Given the description of an element on the screen output the (x, y) to click on. 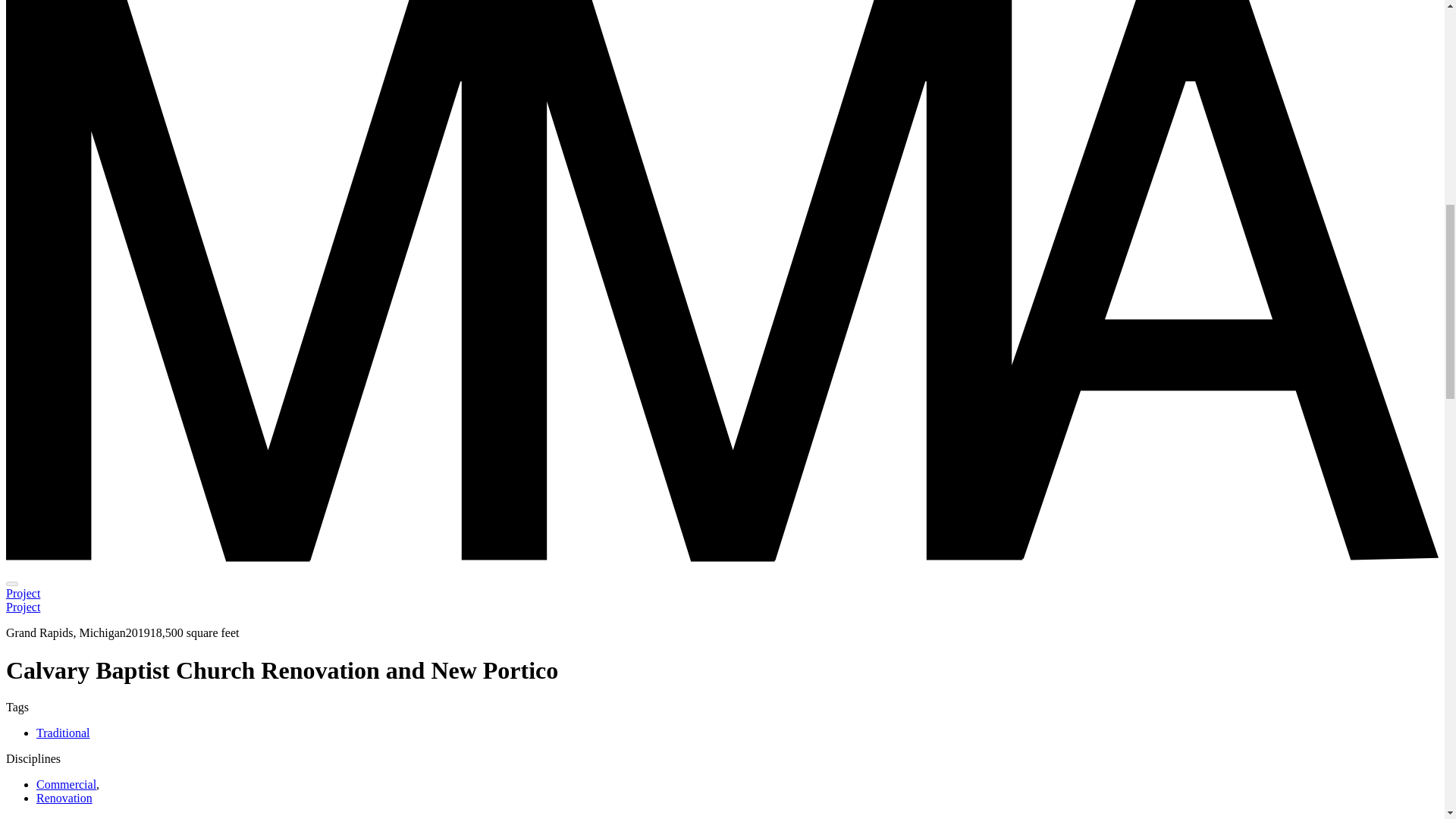
Renovation (64, 797)
Project (22, 593)
Project (22, 606)
Commercial (66, 784)
Traditional (63, 732)
